Given the description of an element on the screen output the (x, y) to click on. 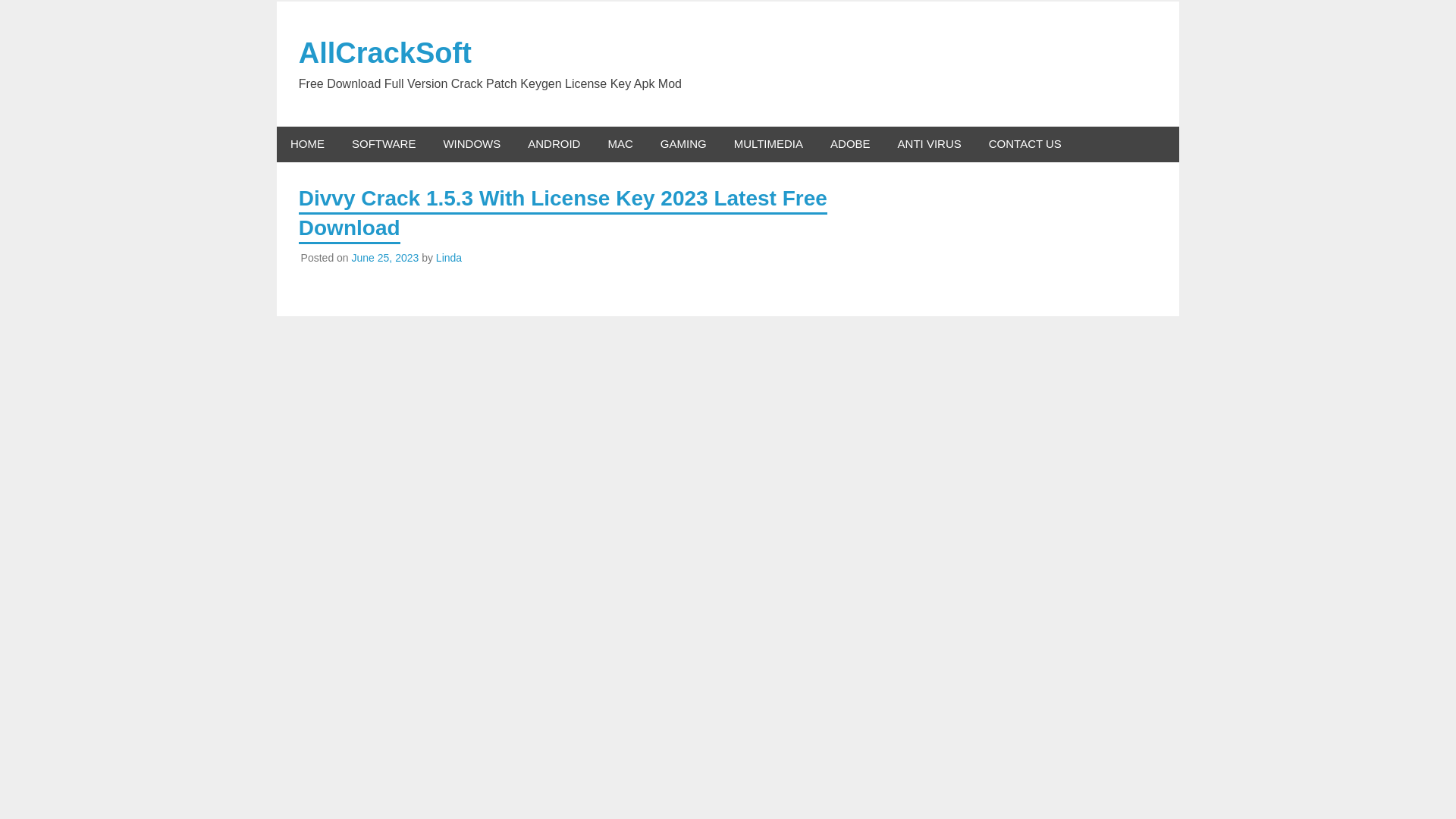
SOFTWARE (383, 144)
ANDROID (553, 144)
ANTI VIRUS (929, 144)
MULTIMEDIA (768, 144)
AllCrackSoft (384, 52)
CONTACT US (1025, 144)
June 25, 2023 (385, 257)
WINDOWS (471, 144)
ADOBE (849, 144)
MAC (620, 144)
